Given the description of an element on the screen output the (x, y) to click on. 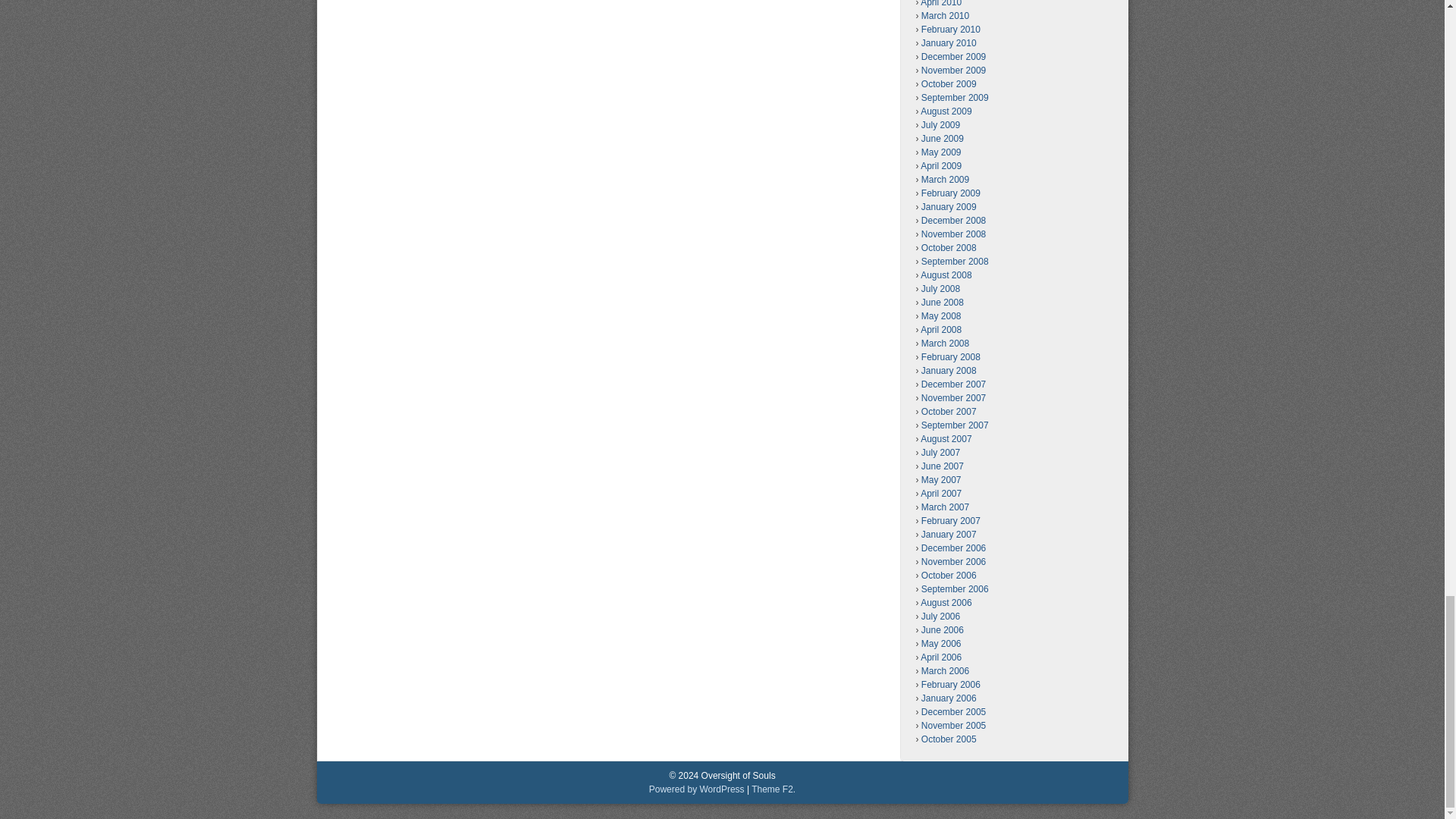
A Semantic Personal Publishing Platform (696, 788)
